Given the description of an element on the screen output the (x, y) to click on. 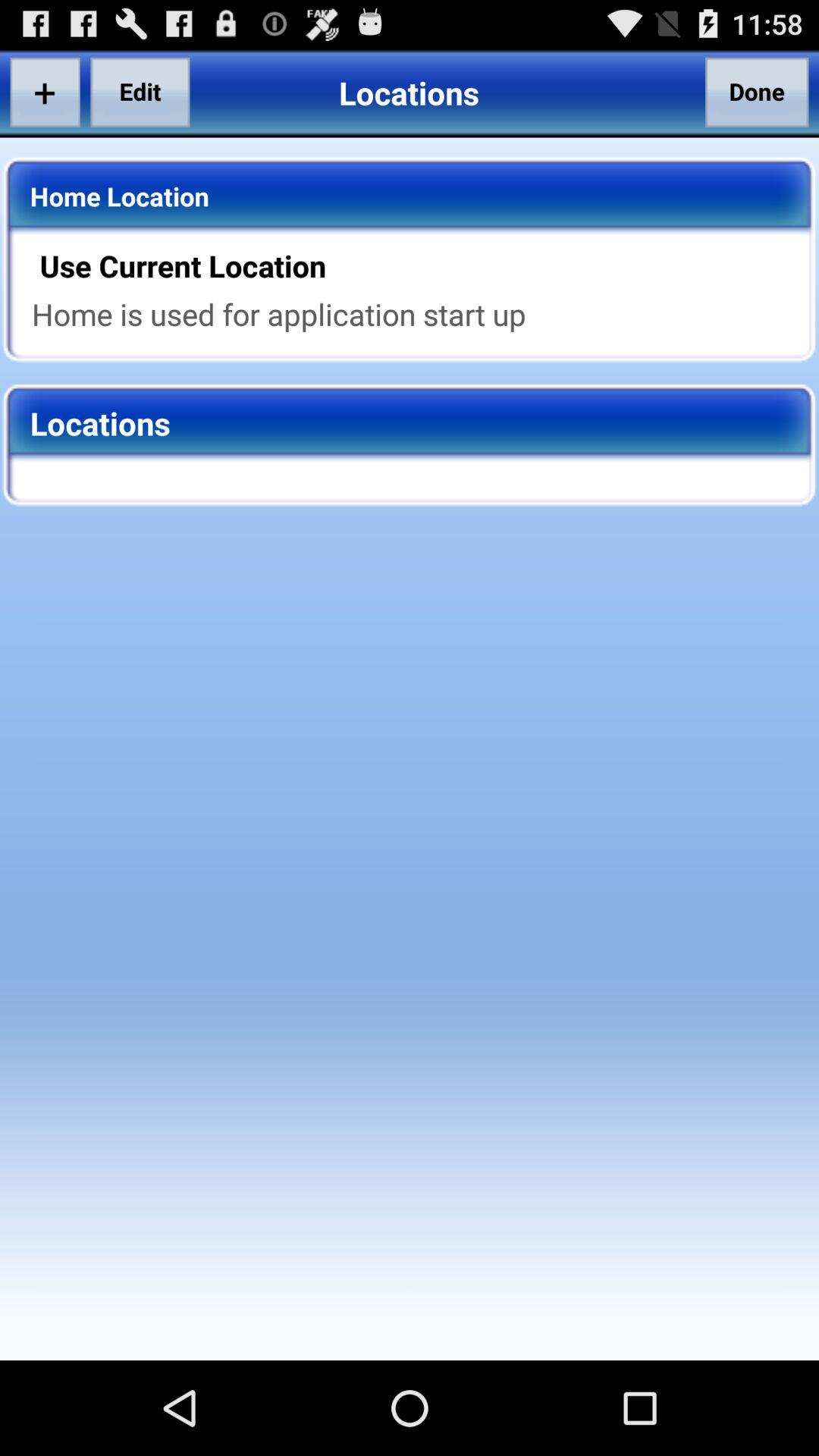
flip until done button (756, 92)
